Given the description of an element on the screen output the (x, y) to click on. 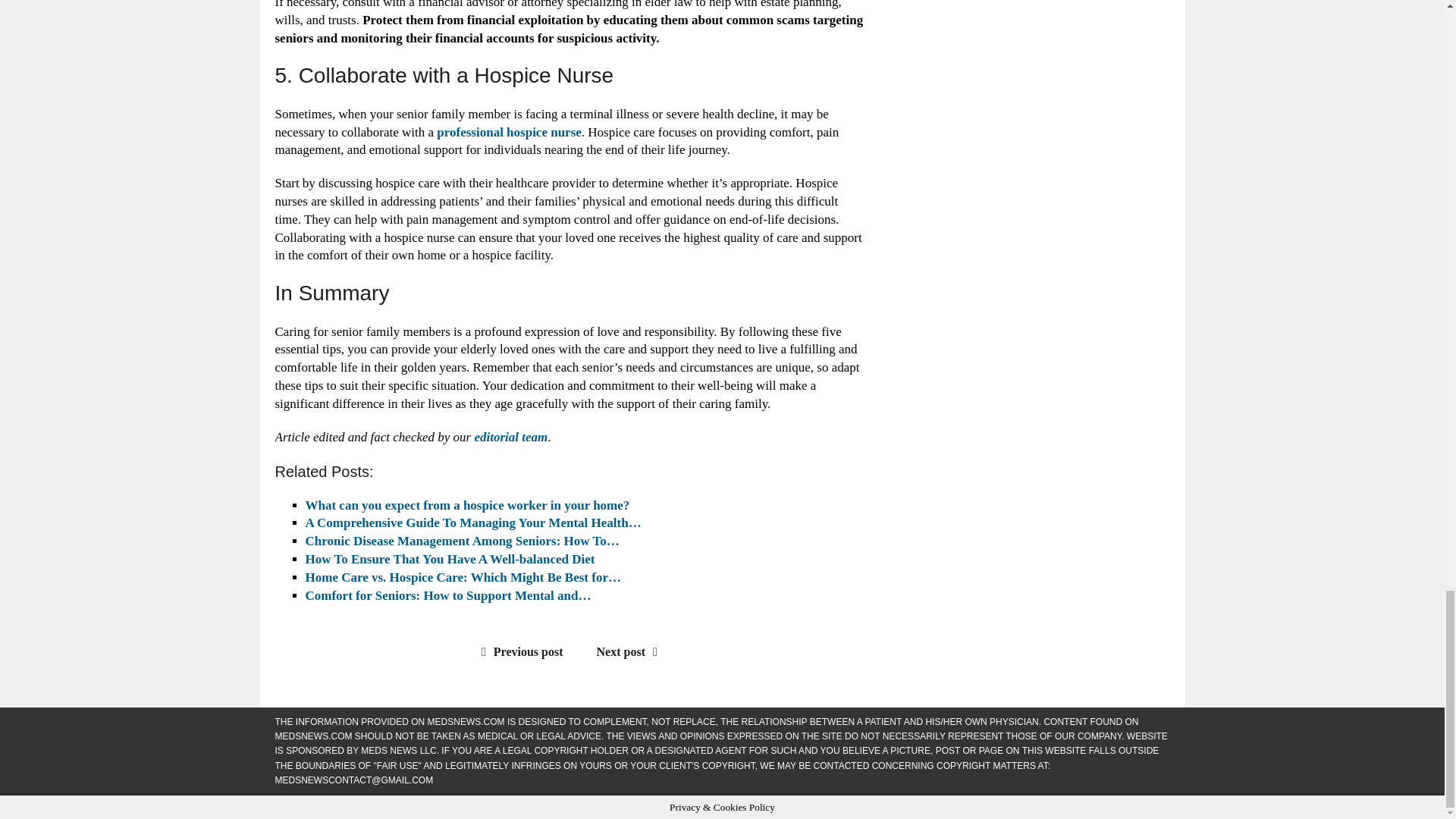
How To Ensure That You Have A Well-balanced Diet (449, 559)
Previous post (518, 651)
Next post (630, 651)
professional hospice nurse (508, 132)
editorial team (510, 436)
What can you expect from a hospice worker in your home? (466, 504)
